Given the description of an element on the screen output the (x, y) to click on. 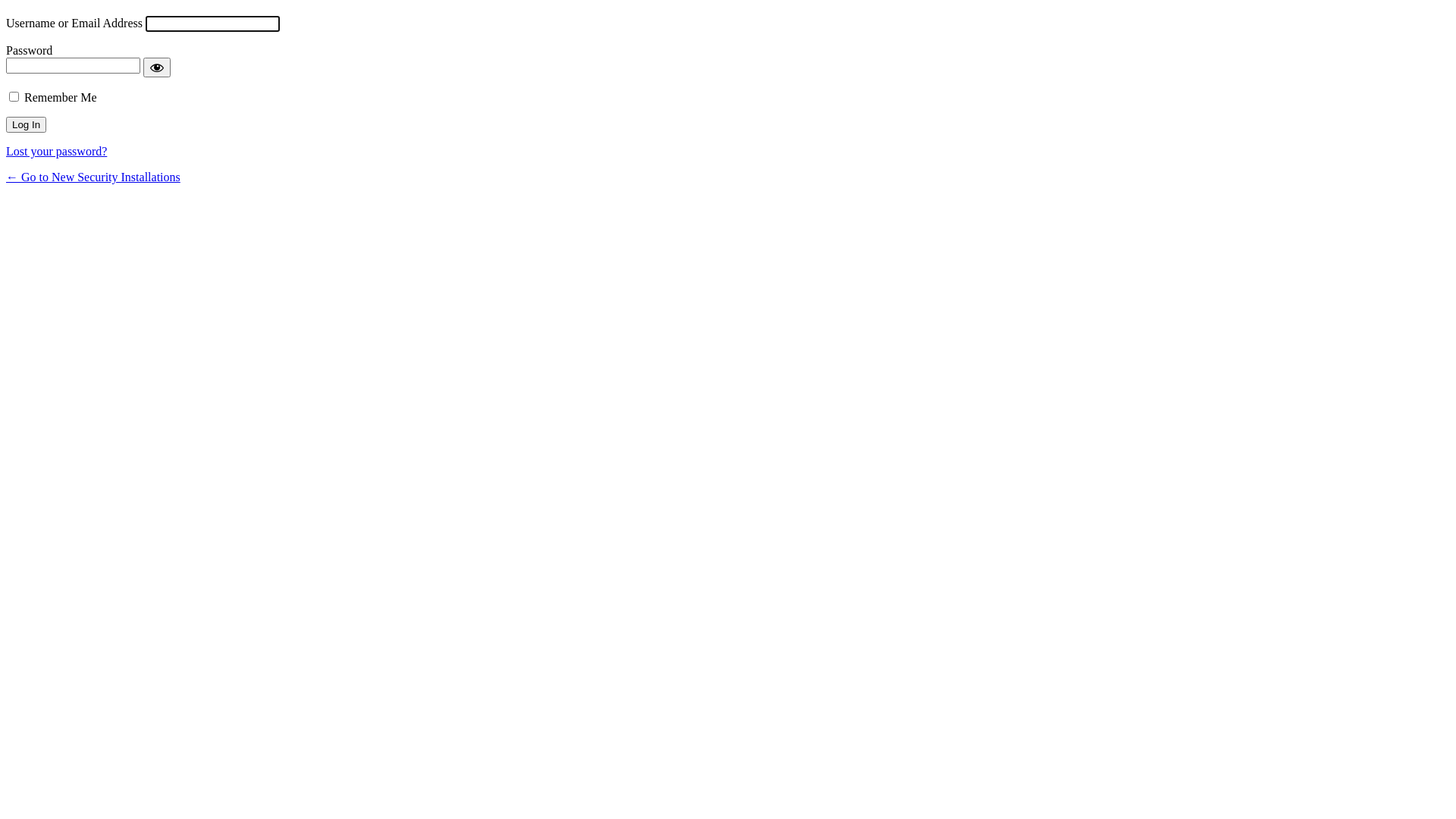
Lost your password? Element type: text (56, 150)
Log In Element type: text (26, 124)
